Given the description of an element on the screen output the (x, y) to click on. 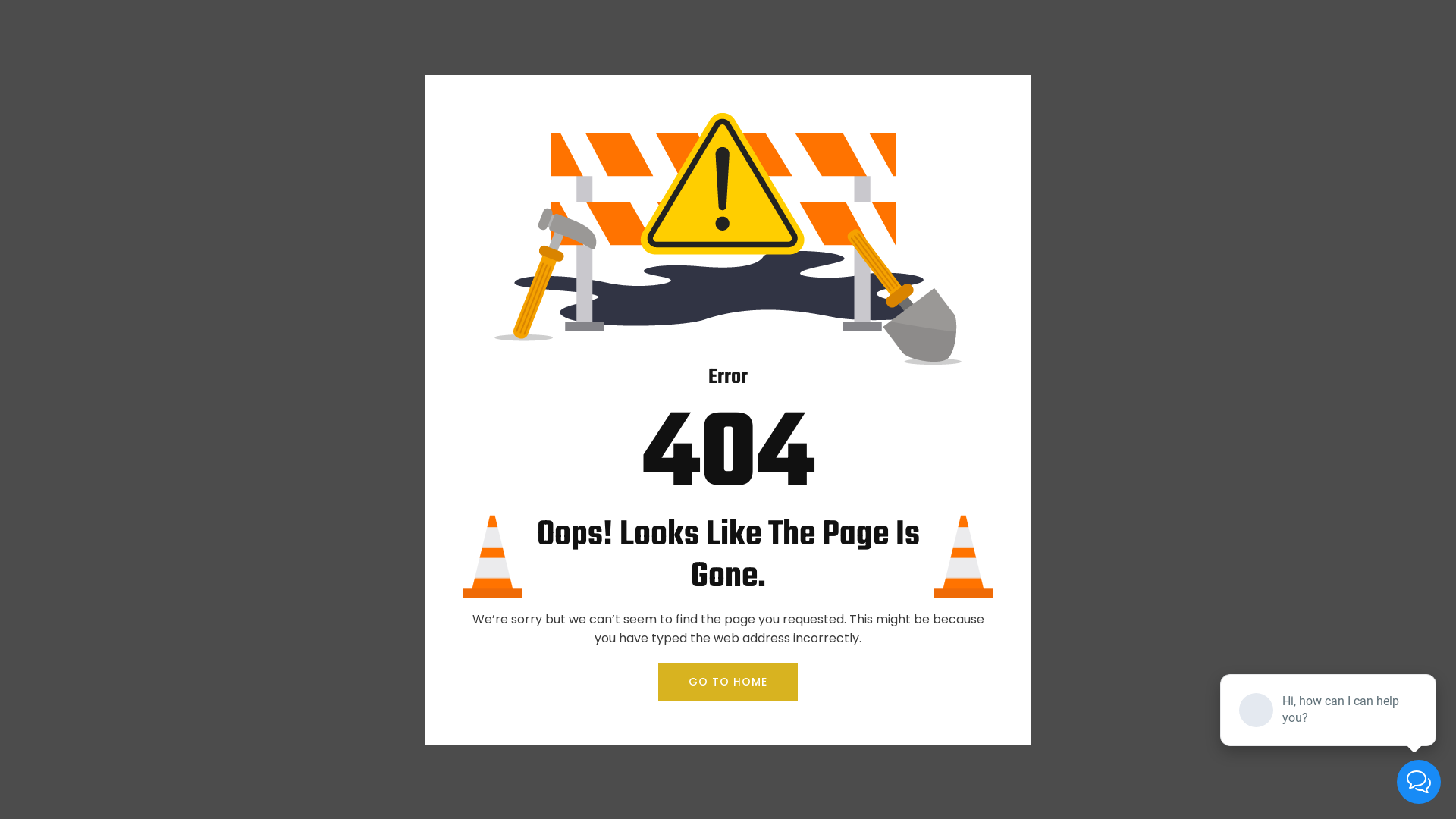
GO TO HOME Element type: text (727, 681)
